Given the description of an element on the screen output the (x, y) to click on. 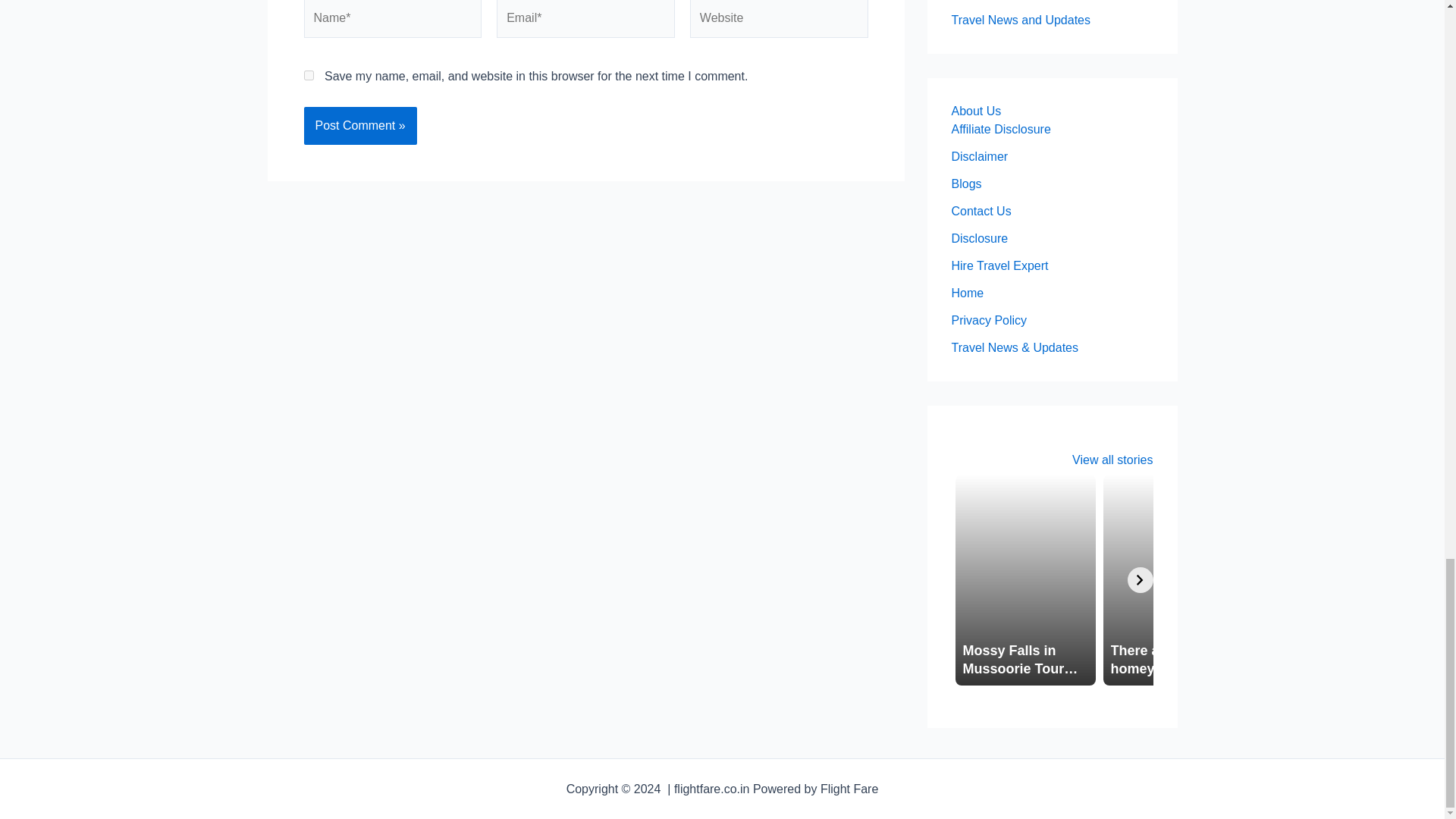
yes (307, 75)
